Given the description of an element on the screen output the (x, y) to click on. 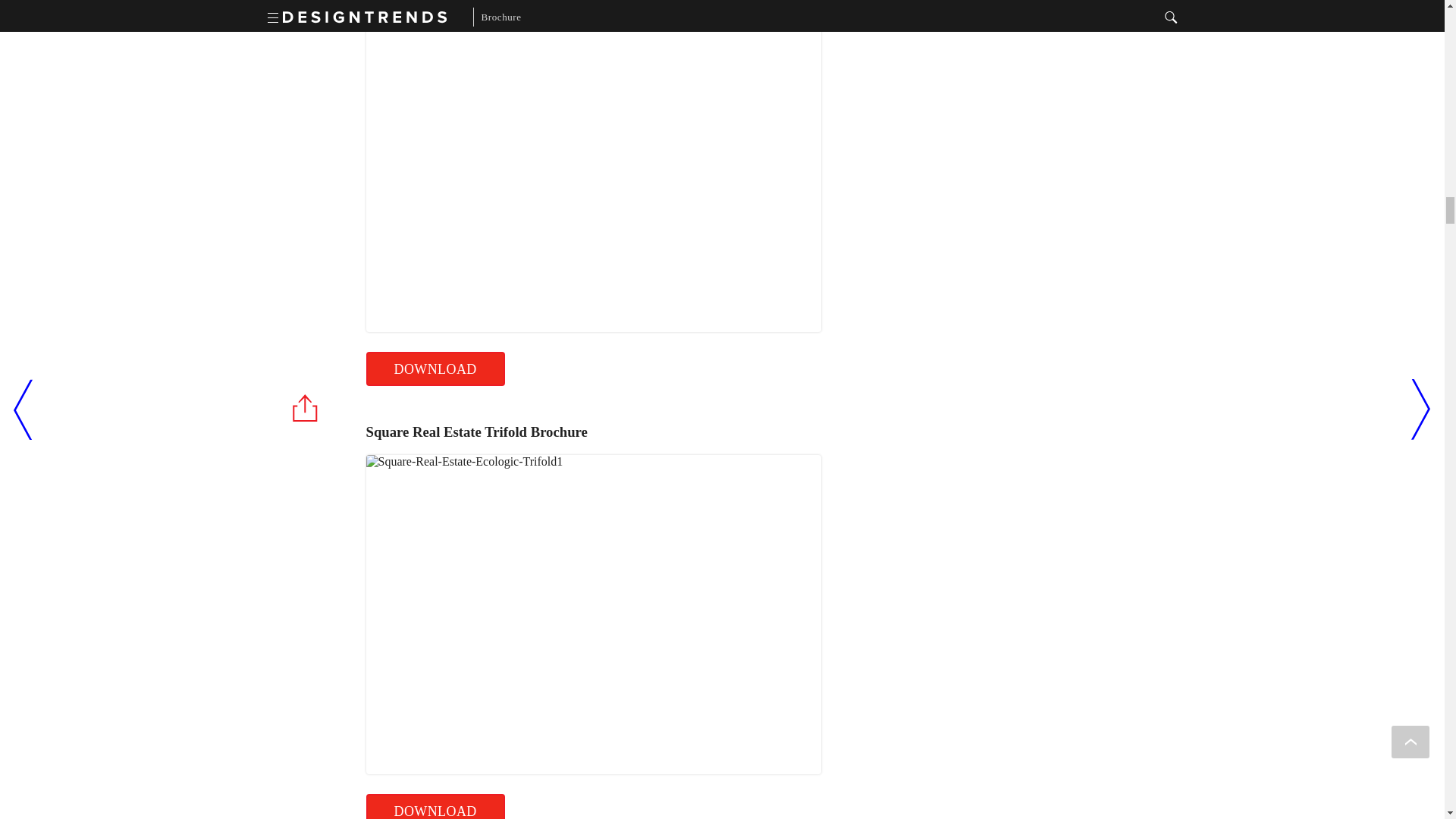
DOWNLOAD (434, 368)
DOWNLOAD (434, 806)
